Given the description of an element on the screen output the (x, y) to click on. 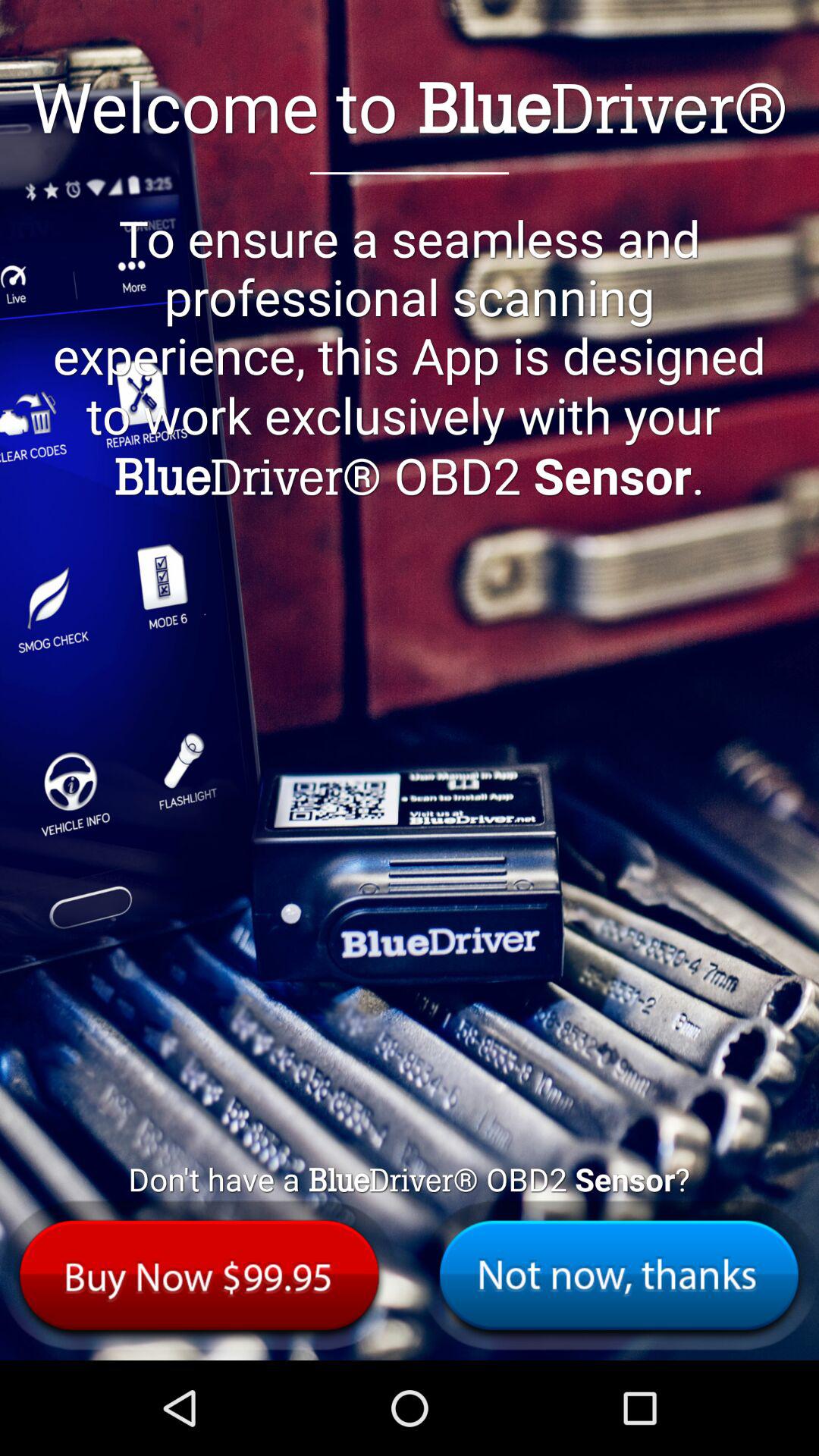
pay 99.95 to buy (199, 1275)
